Given the description of an element on the screen output the (x, y) to click on. 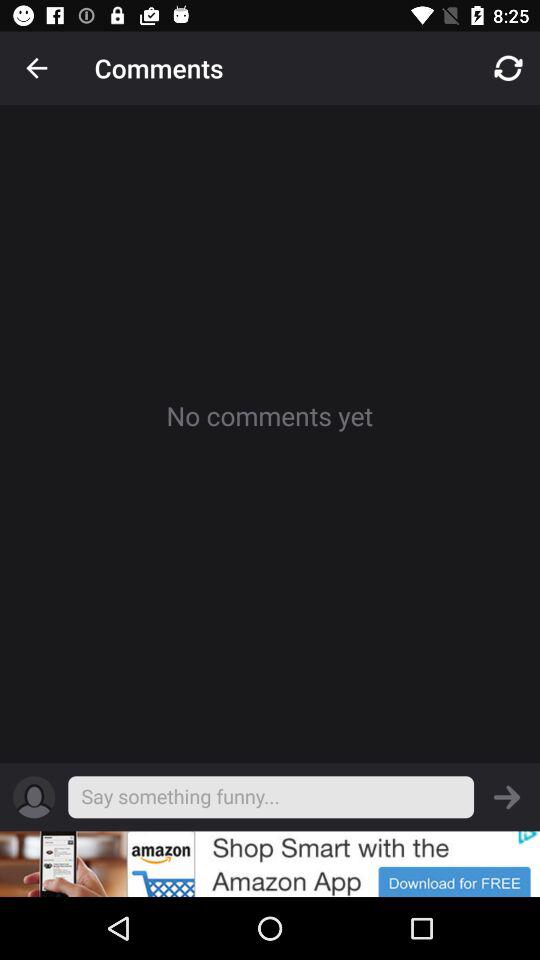
send button (507, 797)
